Given the description of an element on the screen output the (x, y) to click on. 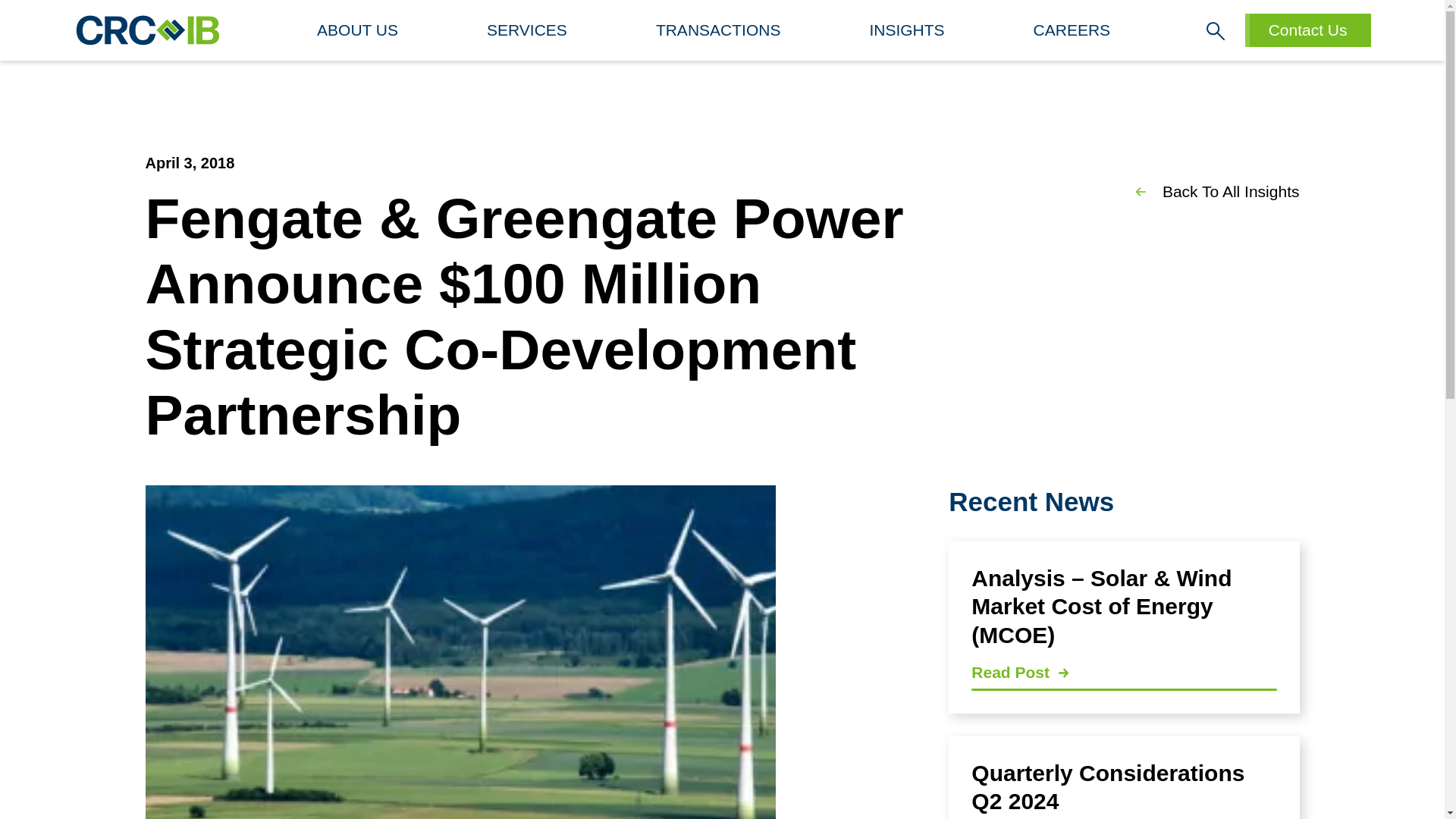
Back To All Insights (1206, 191)
Contact Us (1307, 29)
SERVICES (1124, 777)
TRANSACTIONS (526, 29)
CAREERS (718, 29)
ABOUT US (1071, 29)
INSIGHTS (357, 29)
